Given the description of an element on the screen output the (x, y) to click on. 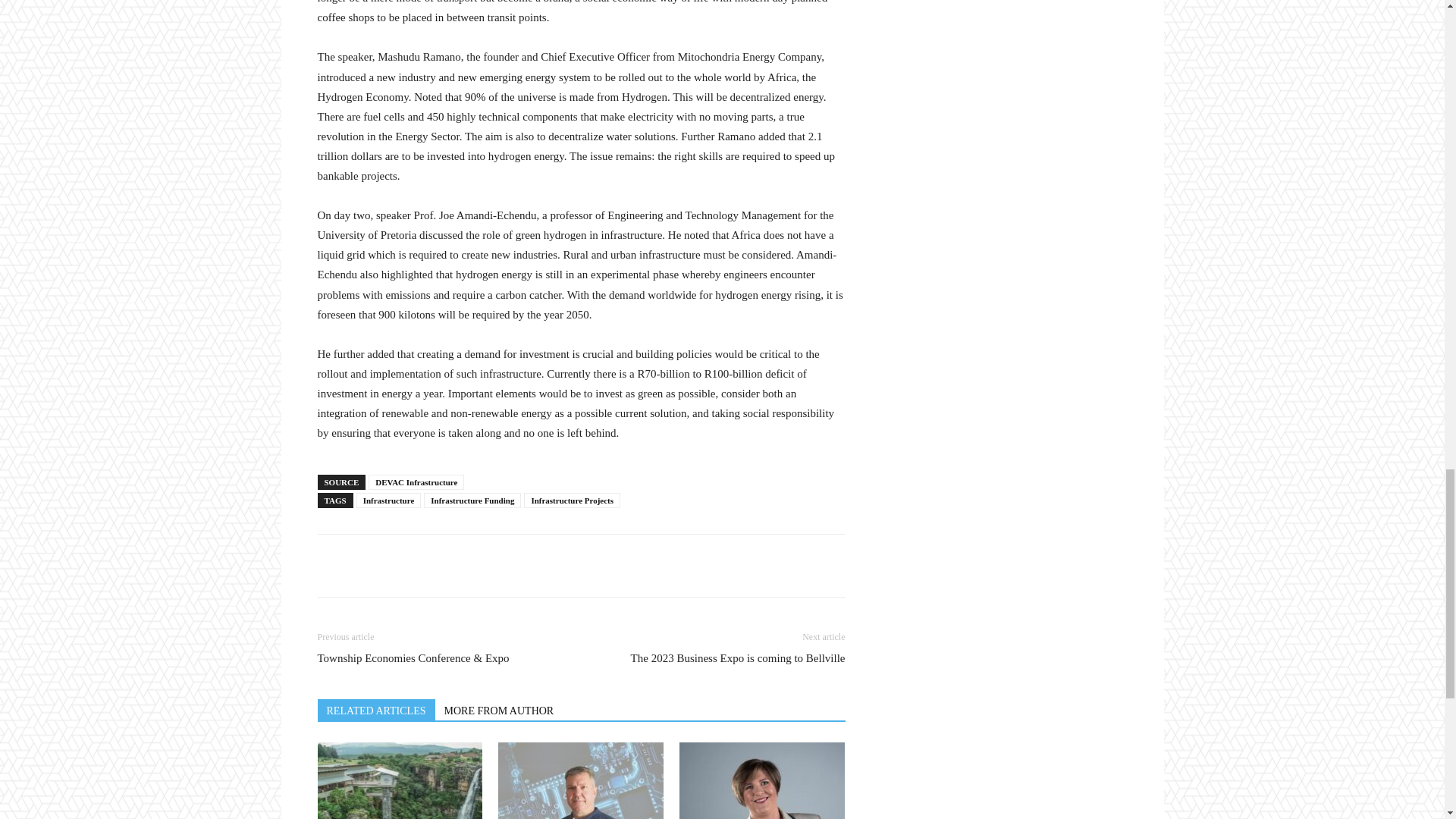
Sustainability is more than being green (761, 780)
How to harness the potential of AI (580, 780)
